Given the description of an element on the screen output the (x, y) to click on. 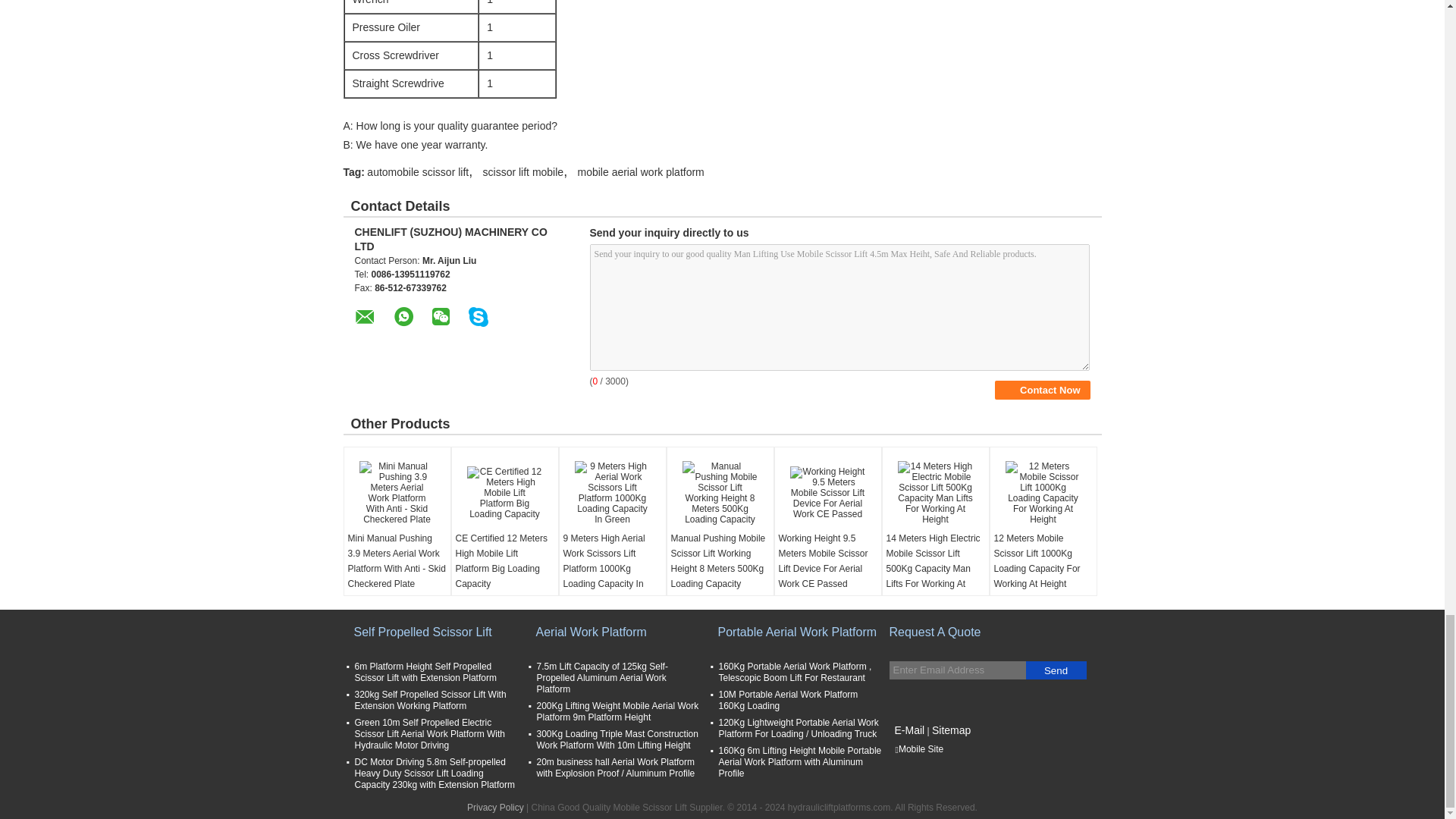
mobile aerial work platform (641, 172)
automobile scissor lift (417, 172)
scissor lift mobile (523, 172)
Contact Now (1041, 389)
